Given the description of an element on the screen output the (x, y) to click on. 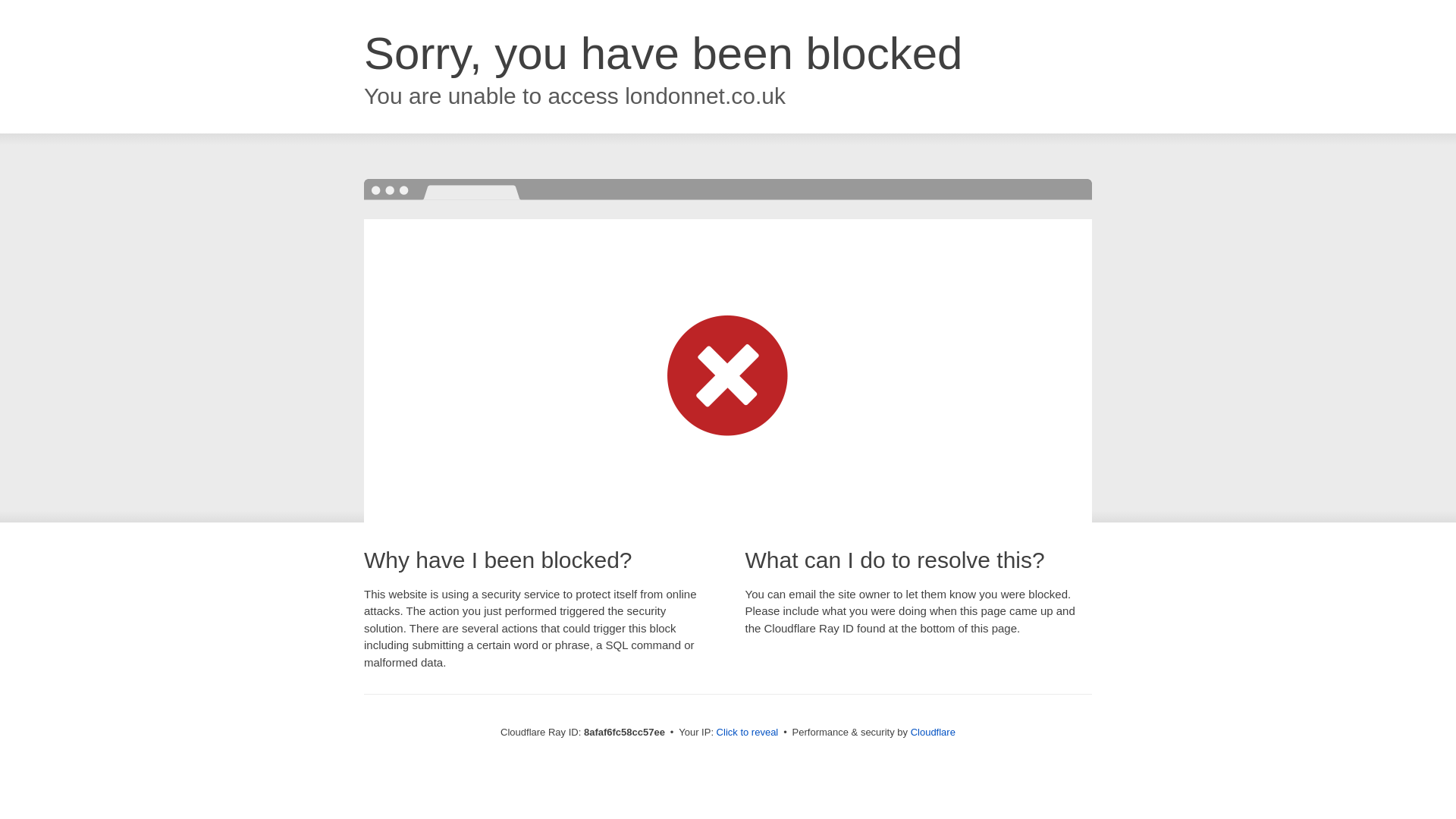
Cloudflare (933, 731)
Click to reveal (747, 732)
